Given the description of an element on the screen output the (x, y) to click on. 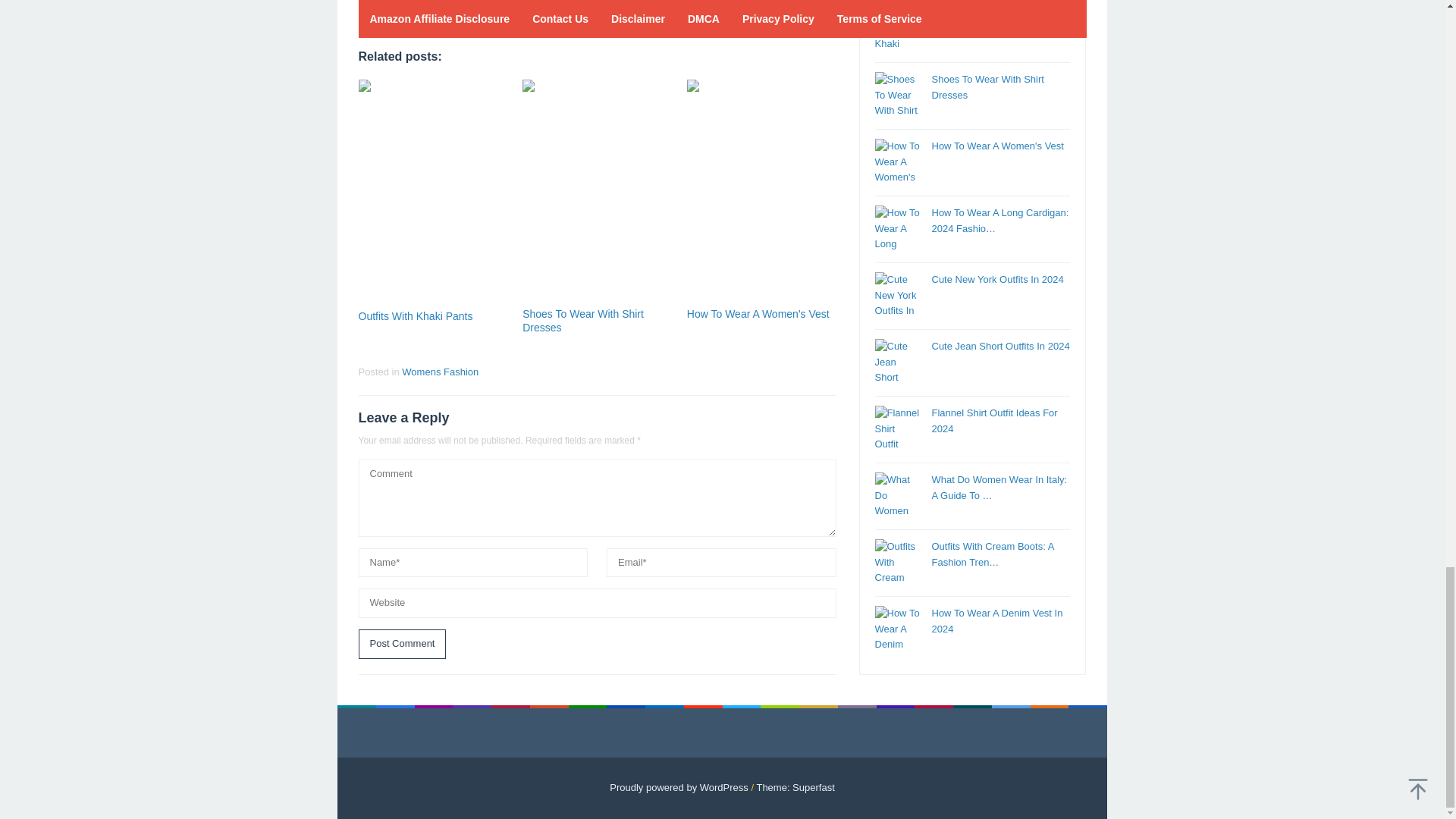
Post Comment (401, 644)
